Given the description of an element on the screen output the (x, y) to click on. 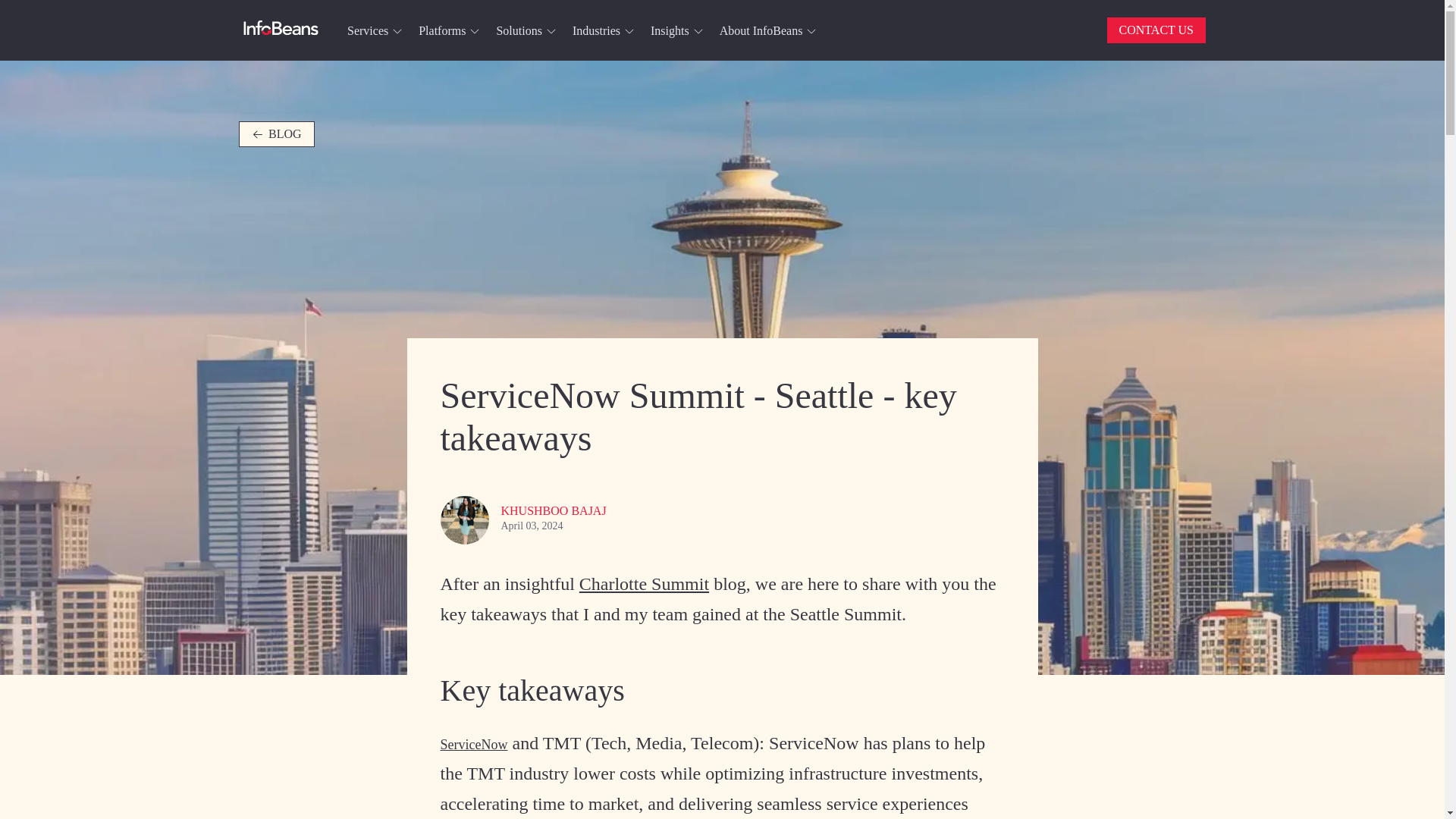
Platforms (448, 30)
Industries (601, 30)
Logo Menu (280, 30)
Services (373, 30)
Solutions (524, 30)
